Given the description of an element on the screen output the (x, y) to click on. 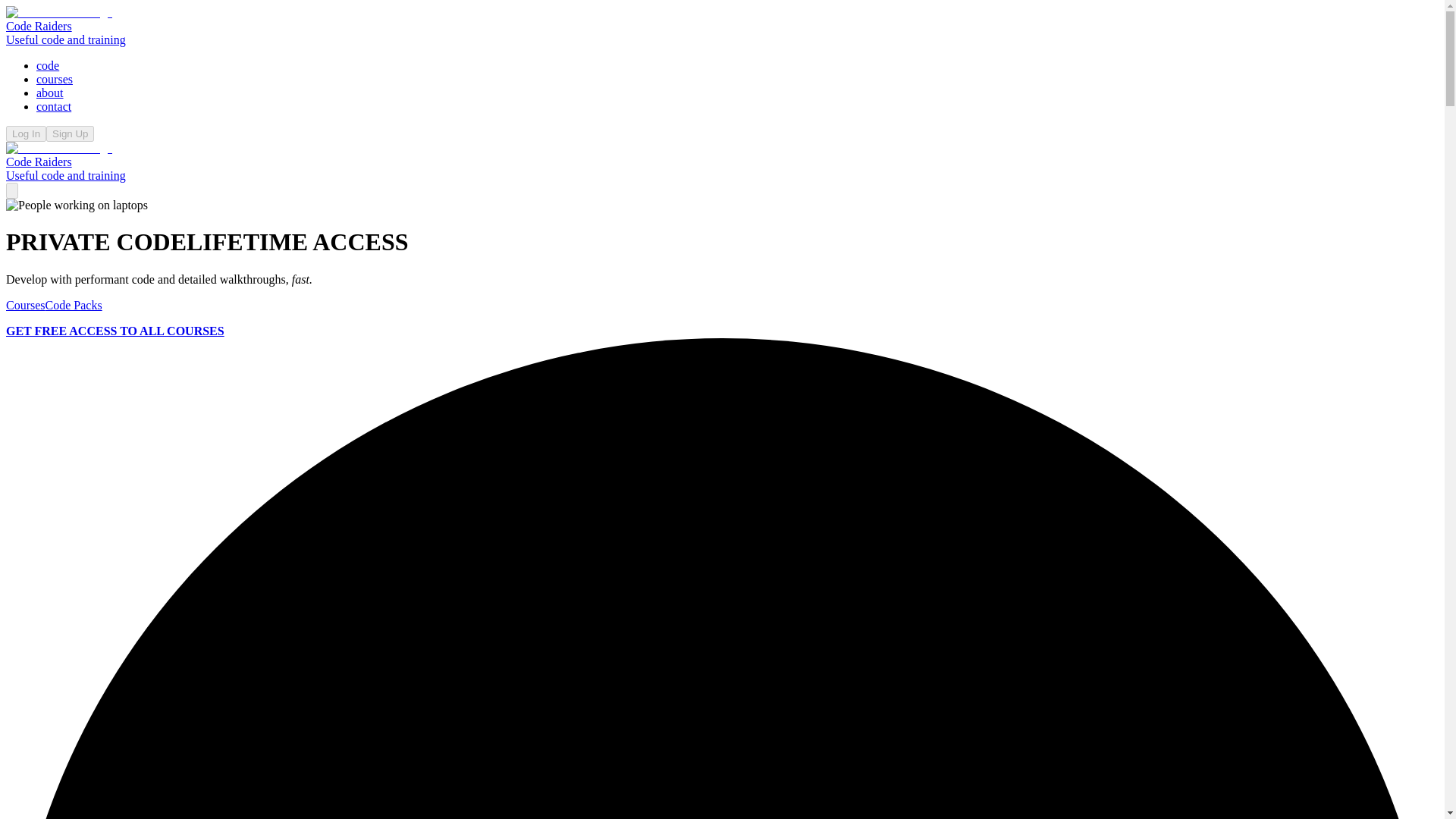
code (47, 65)
contact (53, 106)
courses (54, 78)
Courses (25, 305)
Log In (25, 132)
Sign Up (70, 133)
Sign Up (70, 132)
Code Packs (73, 305)
Log In (25, 133)
about (50, 92)
